Given the description of an element on the screen output the (x, y) to click on. 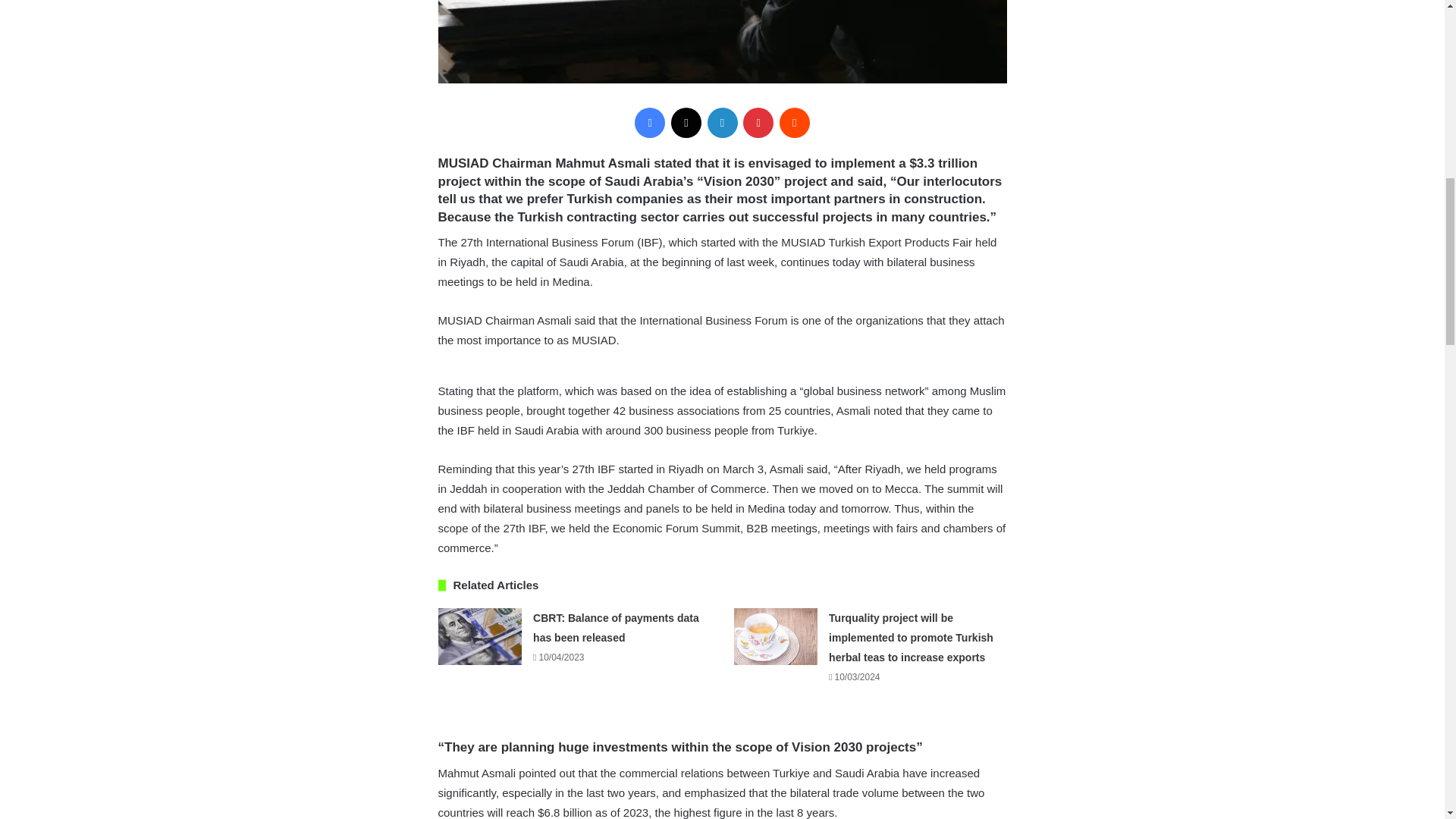
Facebook (649, 122)
Pinterest (757, 122)
X (686, 122)
X (686, 122)
Reddit (793, 122)
Pinterest (757, 122)
Reddit (793, 122)
CBRT: Balance of payments data has been released (615, 627)
LinkedIn (721, 122)
LinkedIn (721, 122)
Facebook (649, 122)
